Given the description of an element on the screen output the (x, y) to click on. 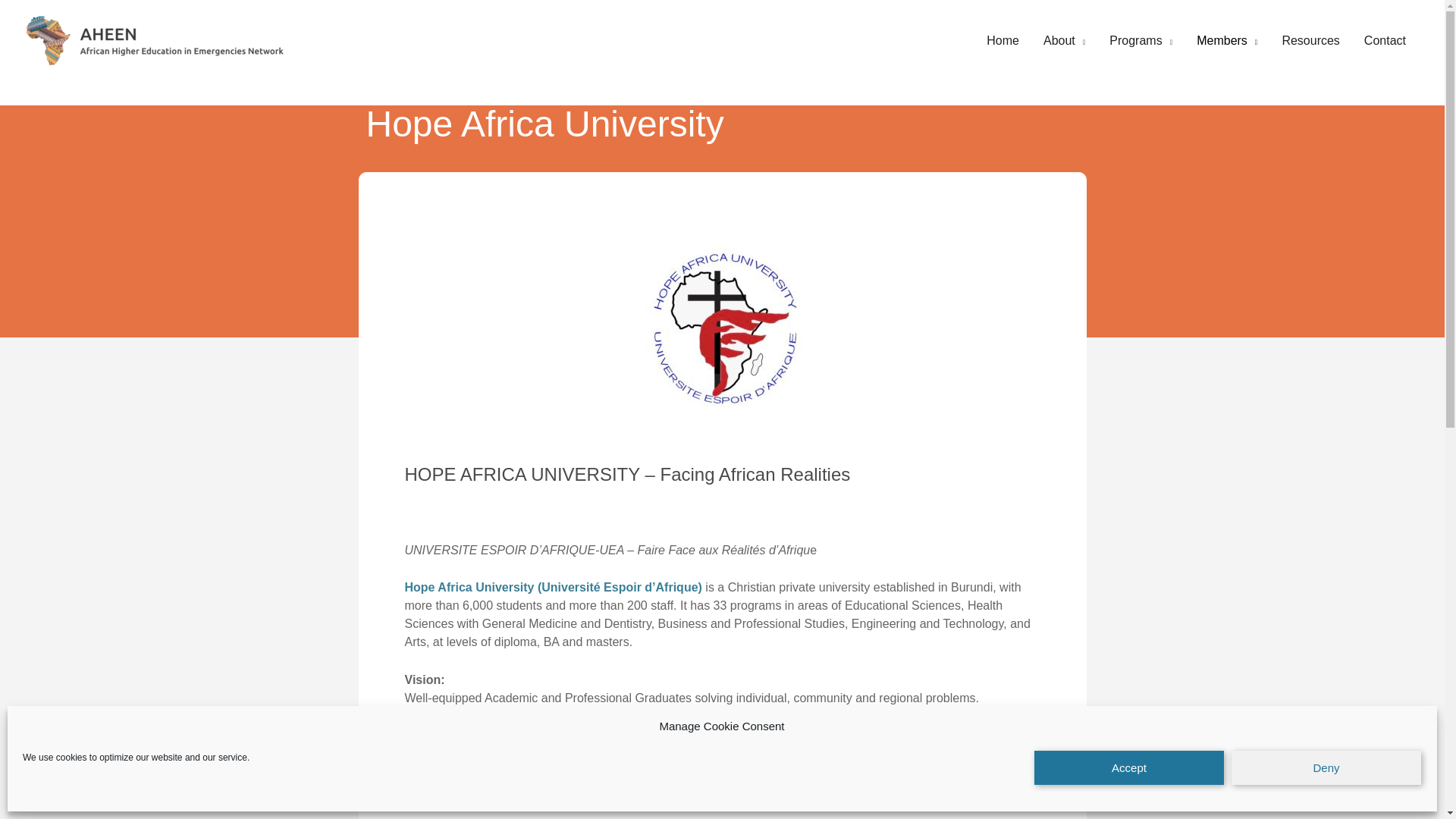
Contact (1385, 40)
Resources (1310, 40)
Members (1227, 40)
Deny (1326, 767)
About (1063, 40)
Accept (1128, 767)
Home (1002, 40)
Programs (1141, 40)
